Given the description of an element on the screen output the (x, y) to click on. 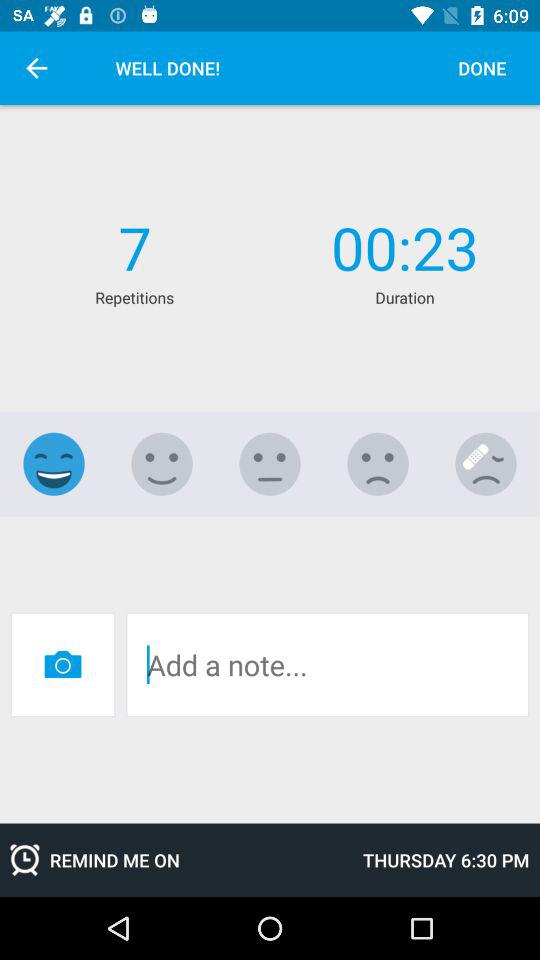
open remind me on item (176, 859)
